Given the description of an element on the screen output the (x, y) to click on. 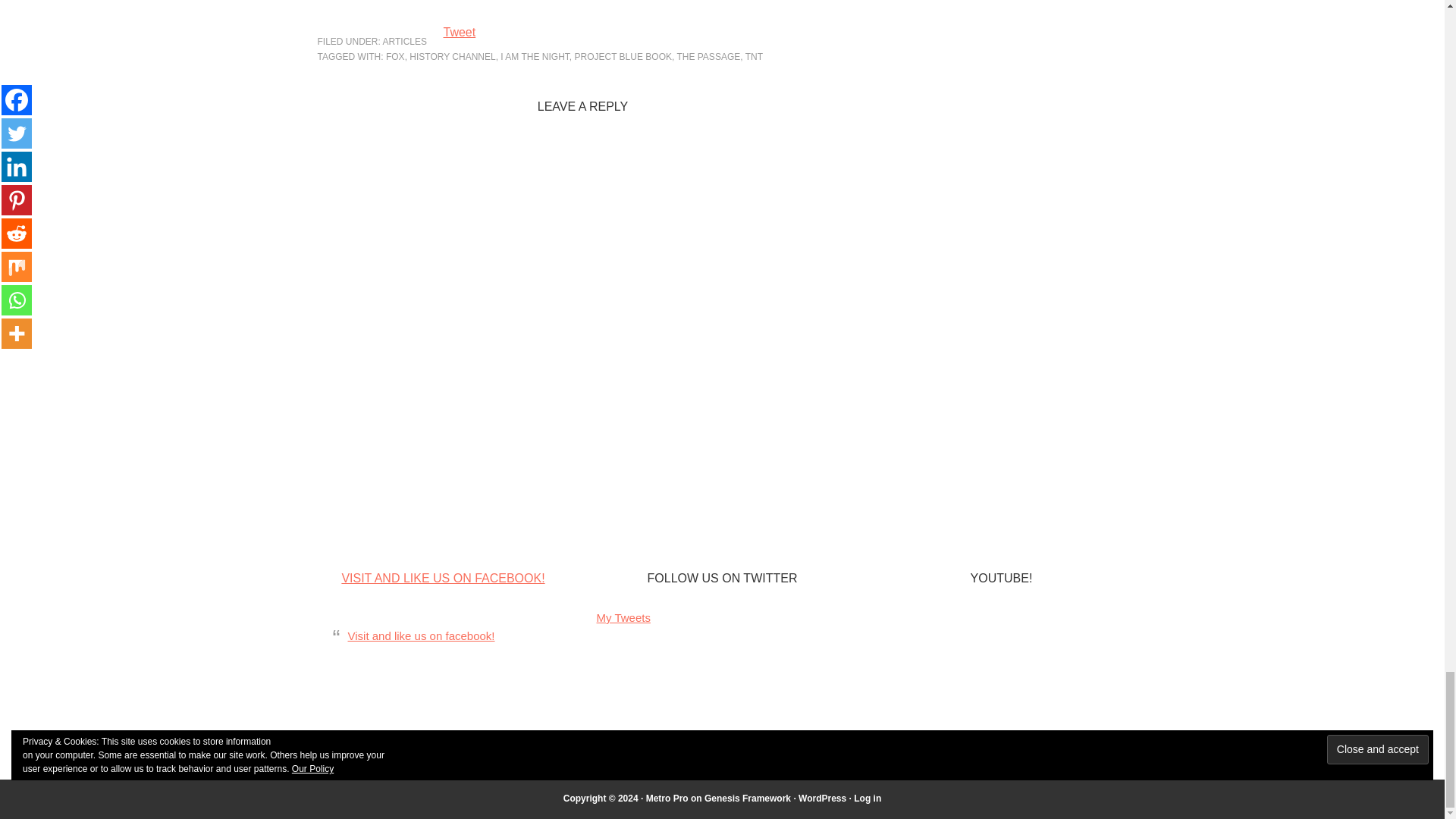
Tweet (459, 31)
